Given the description of an element on the screen output the (x, y) to click on. 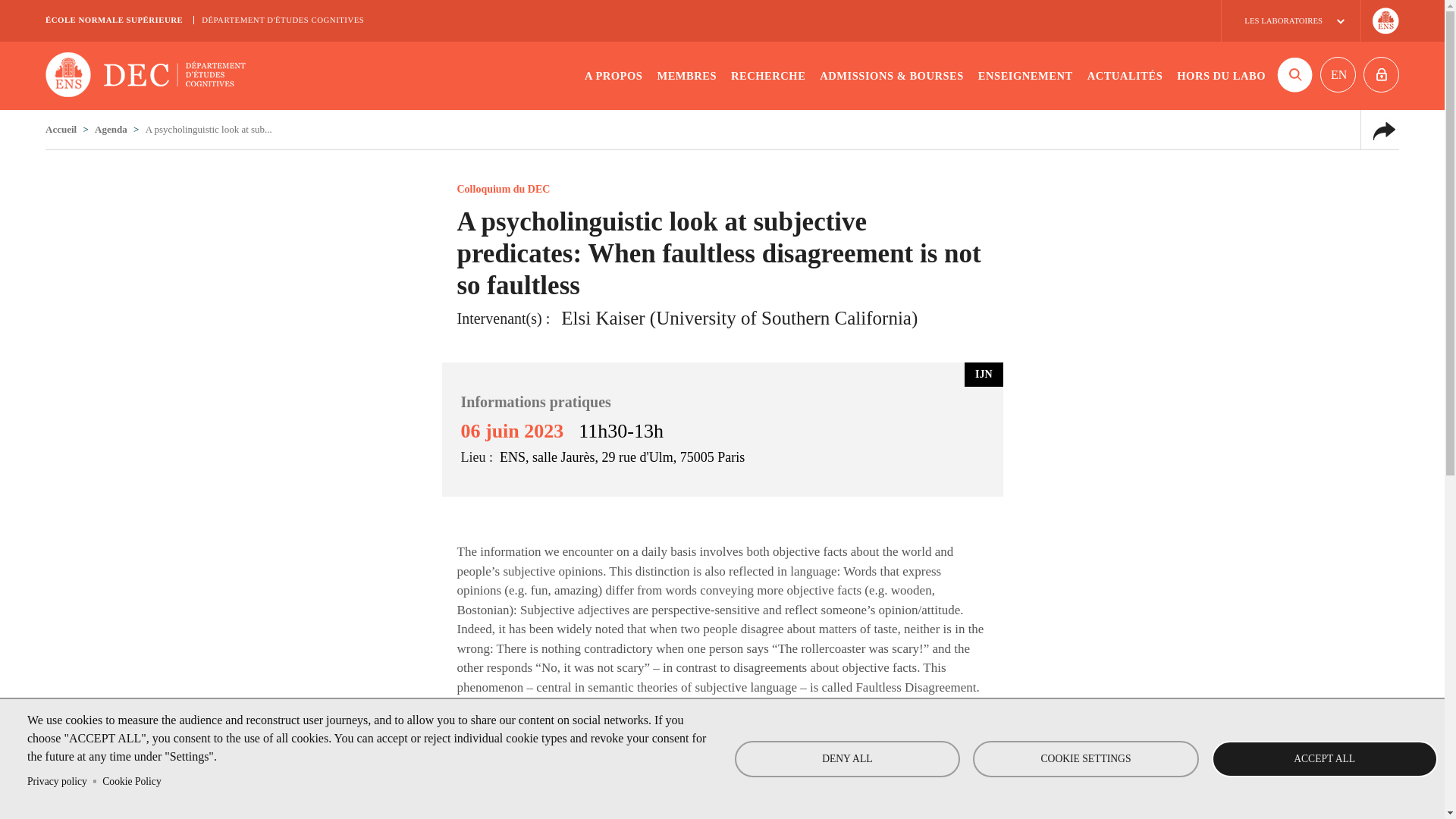
ENSEIGNEMENT (1025, 75)
RECHERCHE (767, 75)
